Given the description of an element on the screen output the (x, y) to click on. 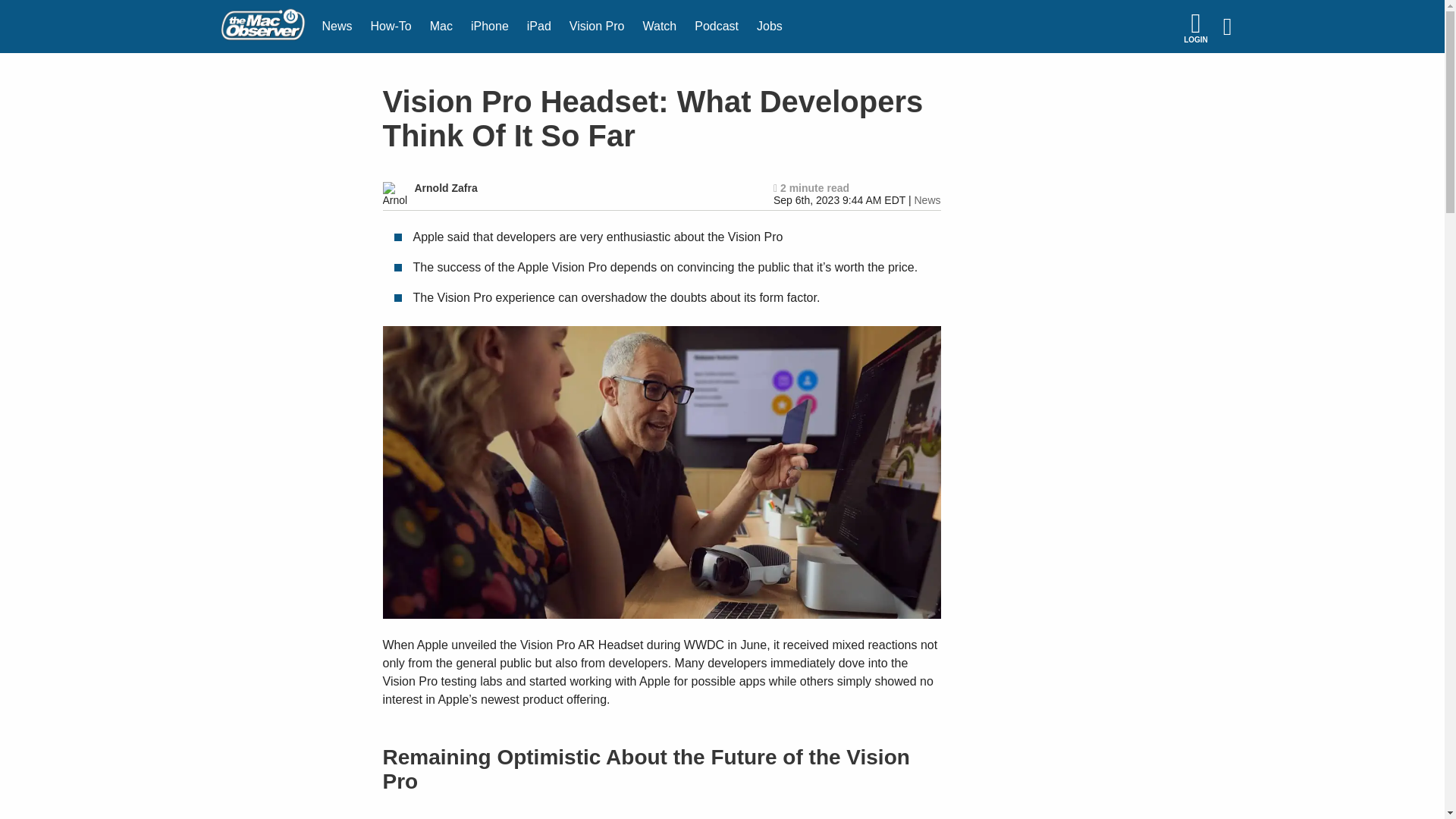
News (337, 26)
Podcast (716, 26)
Vision Pro (596, 26)
Watch (659, 26)
The Mac Observer (262, 26)
Podcast (716, 26)
iPhone (489, 26)
News (337, 26)
Watch (659, 26)
How-To (390, 26)
